Given the description of an element on the screen output the (x, y) to click on. 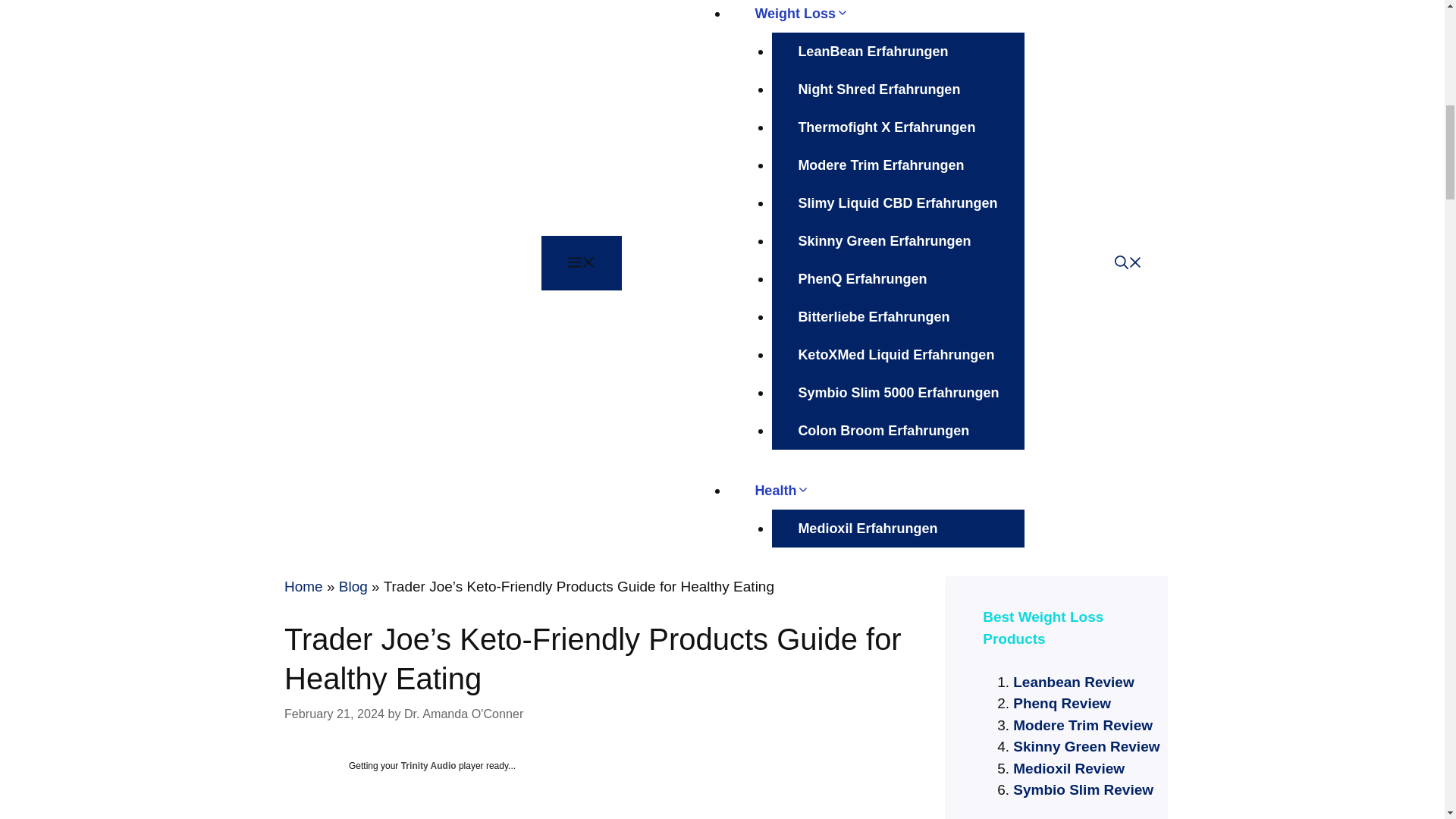
Skinny Green Erfahrungen (883, 241)
Medioxil Erfahrungen (866, 527)
Health (795, 490)
PhenQ Erfahrungen (861, 278)
LeanBean Erfahrungen (872, 51)
Bitterliebe Erfahrungen (873, 316)
View all posts by Dr. Amanda O'Conner (463, 713)
Colon Broom Erfahrungen (882, 430)
Thermofight X Erfahrungen (886, 127)
Modere Trim Erfahrungen (880, 165)
Weight Loss (815, 13)
Symbio Slim 5000 Erfahrungen (898, 392)
Night Shred Erfahrungen (878, 88)
KetoXMed Liquid Erfahrungen (895, 354)
E-BP (376, 262)
